Given the description of an element on the screen output the (x, y) to click on. 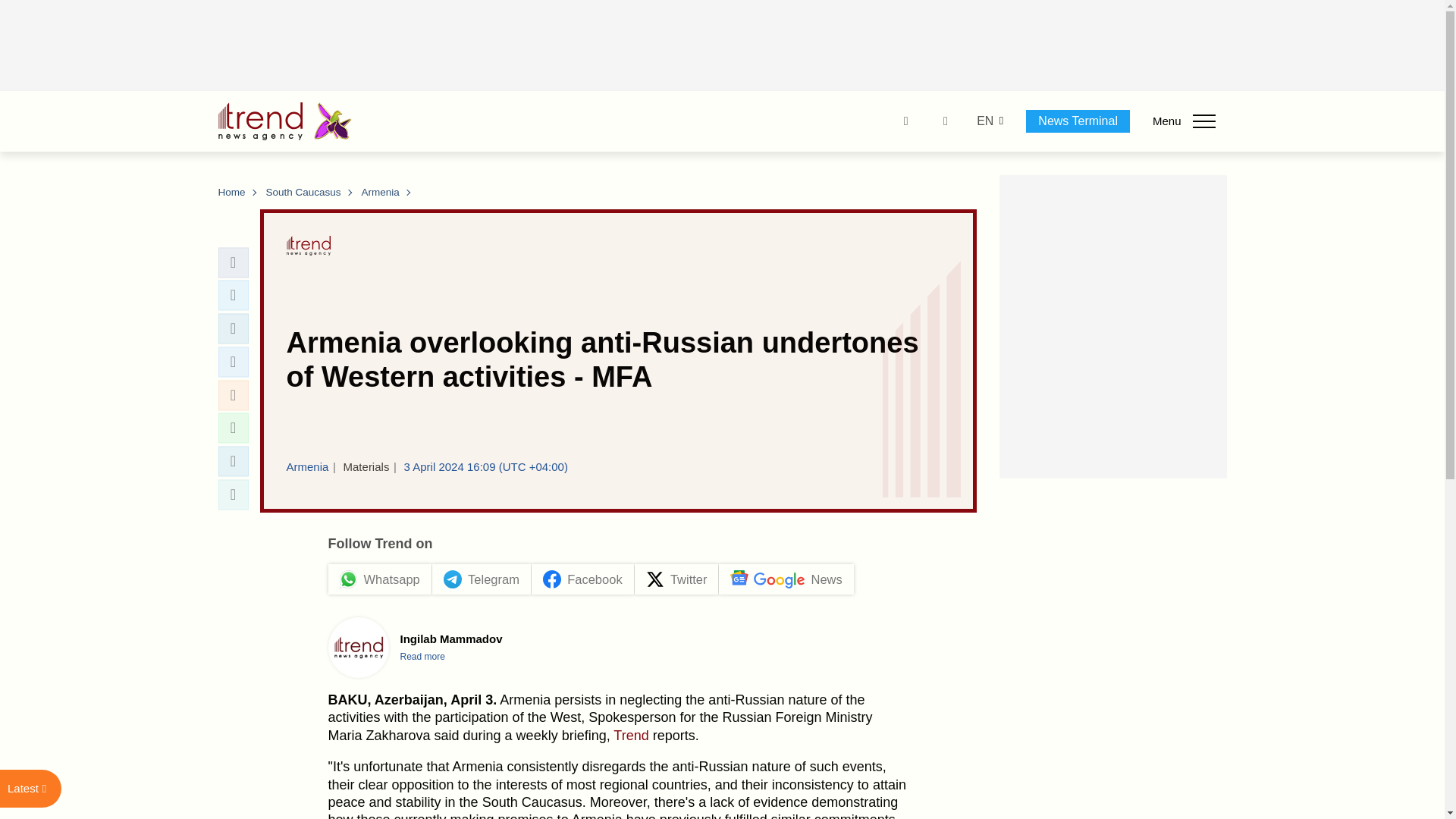
English (984, 121)
EN (984, 121)
News Terminal (1077, 120)
